Given the description of an element on the screen output the (x, y) to click on. 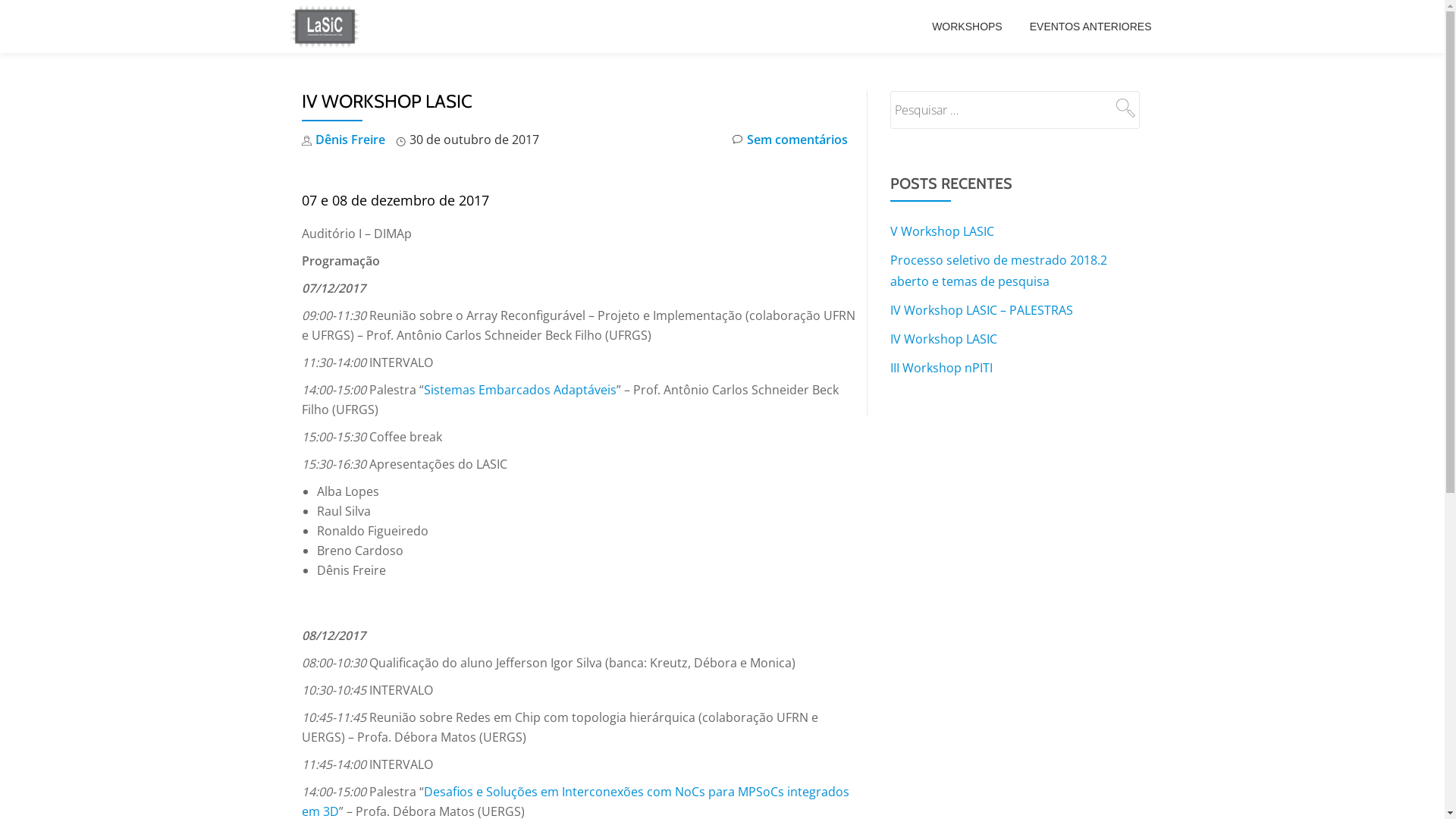
WORKSHOPS Element type: text (966, 26)
III Workshop nPITI Element type: text (941, 367)
IV Workshop LASIC Element type: text (943, 338)
EVENTOS ANTERIORES Element type: text (1090, 26)
Pesquisar Element type: text (1123, 107)
LASIC Element type: hover (326, 26)
V Workshop LASIC Element type: text (942, 230)
